Given the description of an element on the screen output the (x, y) to click on. 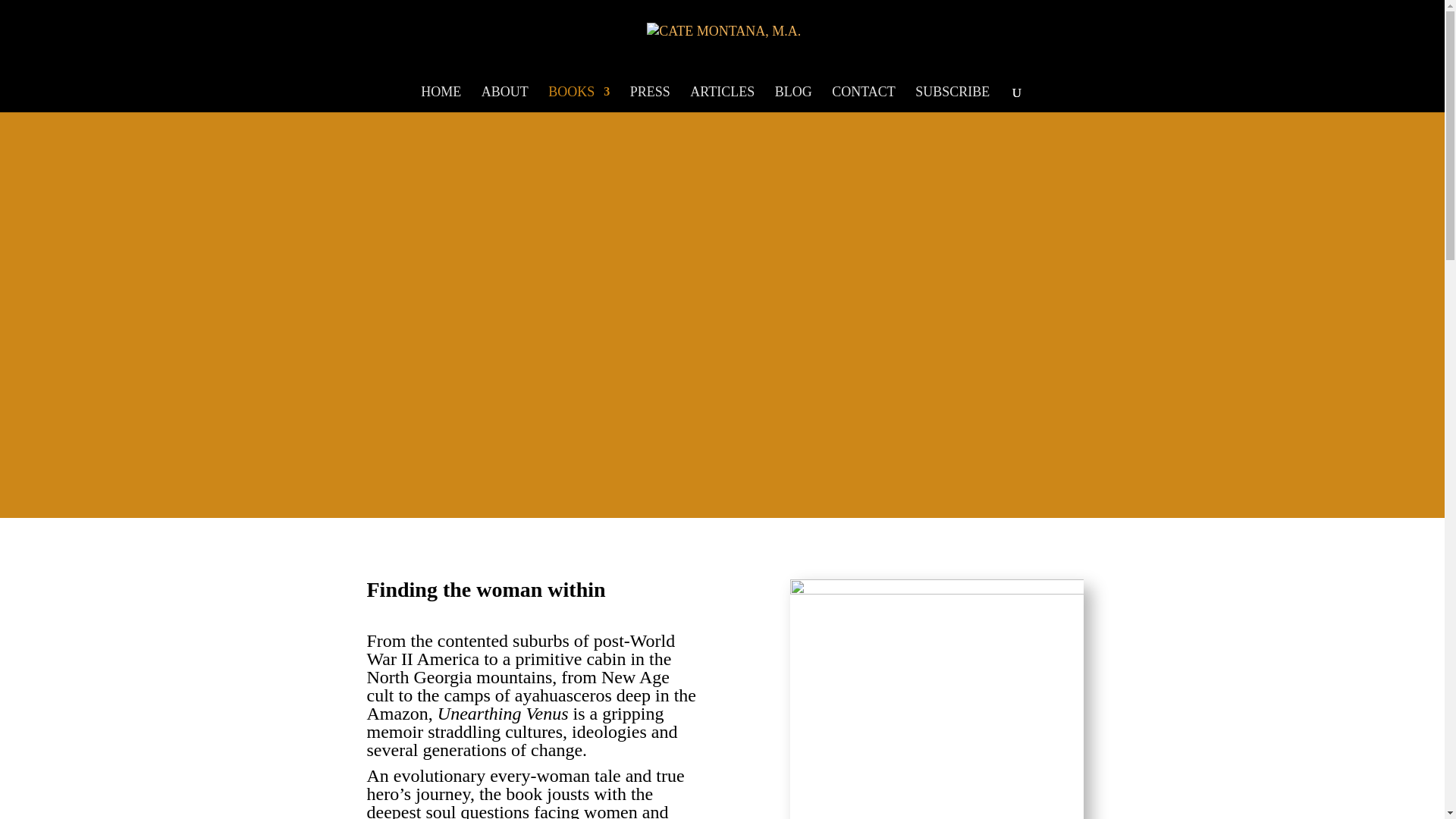
SUBSCRIBE (952, 99)
BLOG (793, 99)
ARTICLES (722, 99)
PRESS (649, 99)
HOME (440, 99)
ABOUT (504, 99)
BOOKS (579, 99)
CONTACT (863, 99)
